Given the description of an element on the screen output the (x, y) to click on. 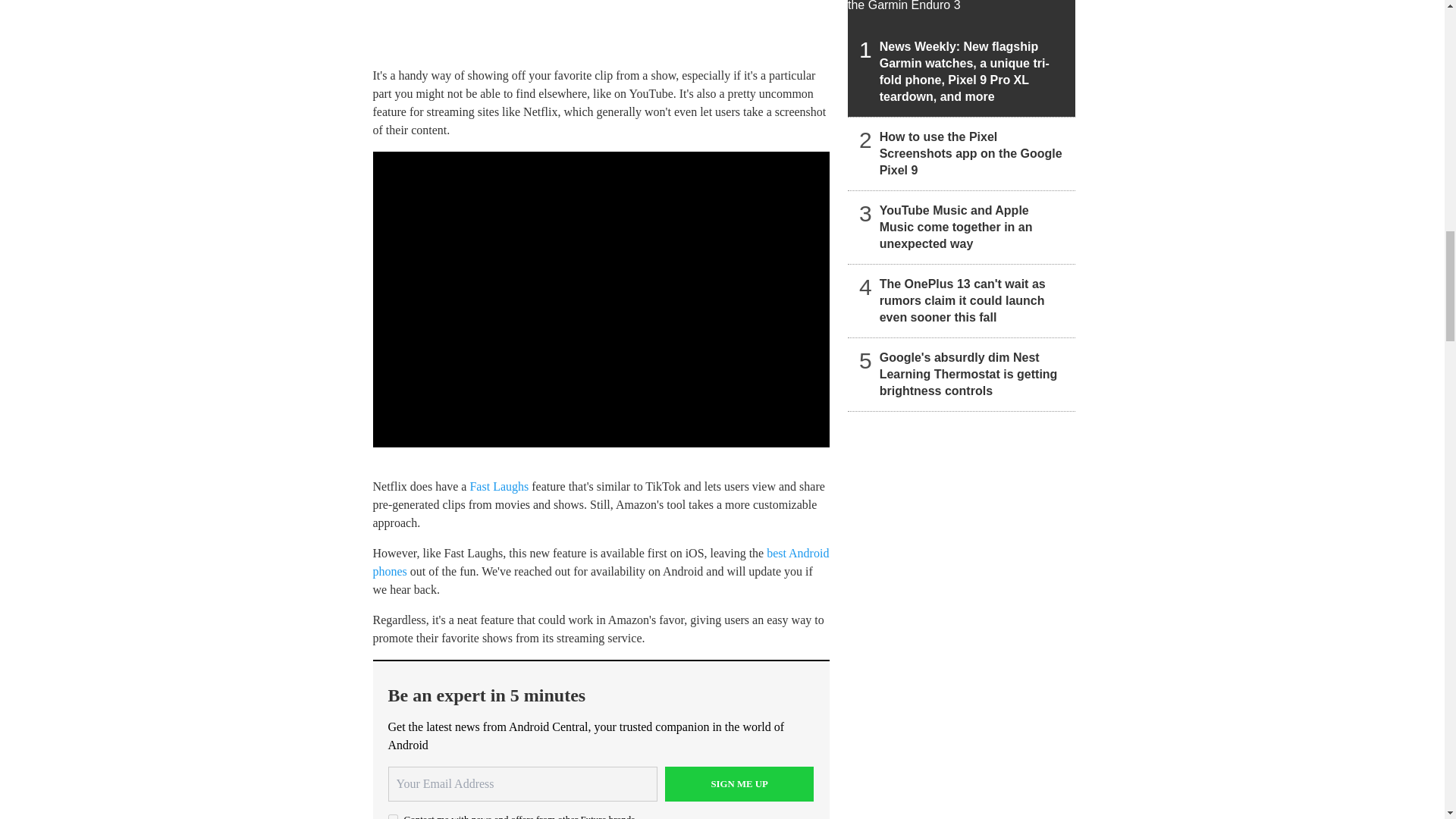
Sign me up (739, 783)
on (392, 816)
